Given the description of an element on the screen output the (x, y) to click on. 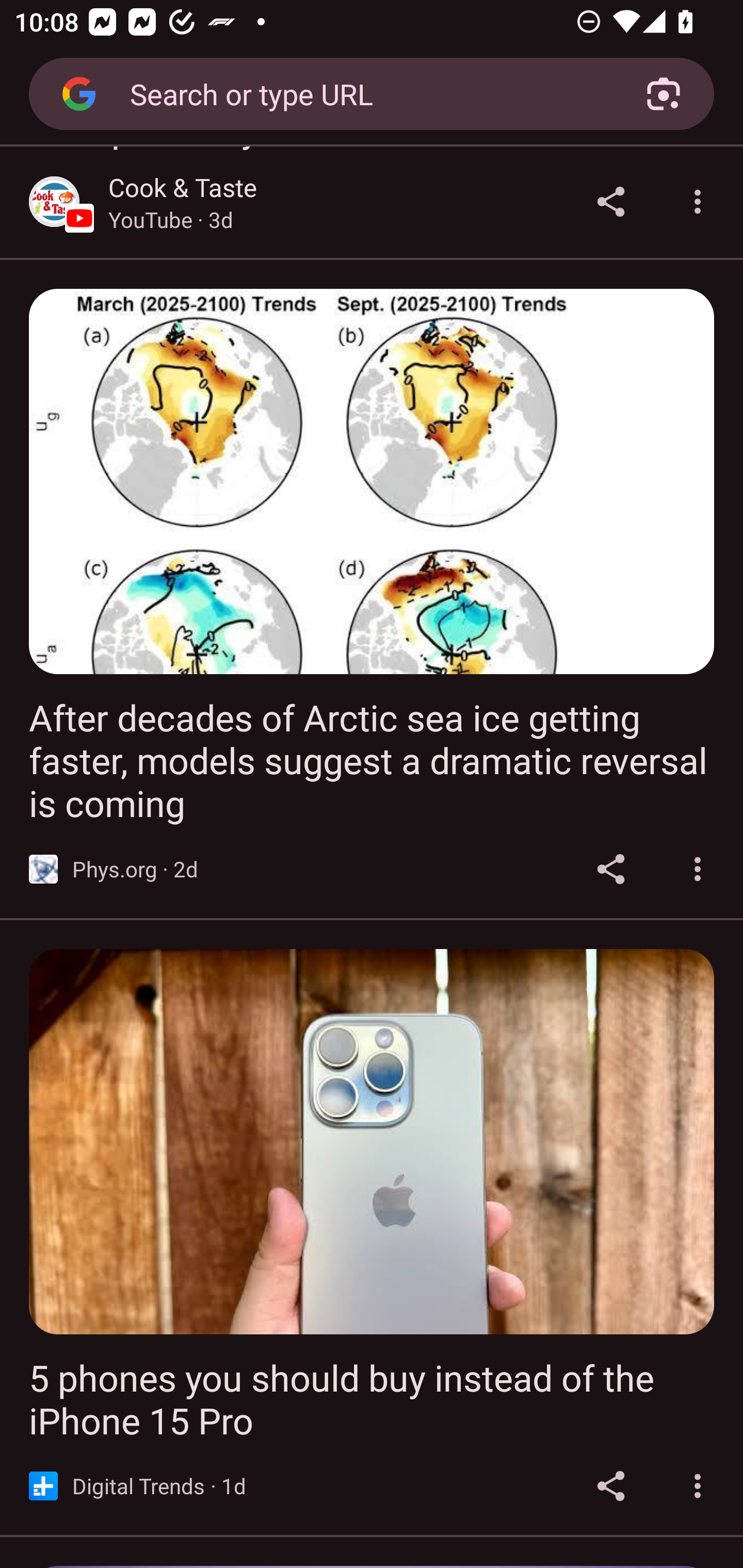
Search with your camera using Google Lens (663, 93)
Search or type URL (364, 92)
